Given the description of an element on the screen output the (x, y) to click on. 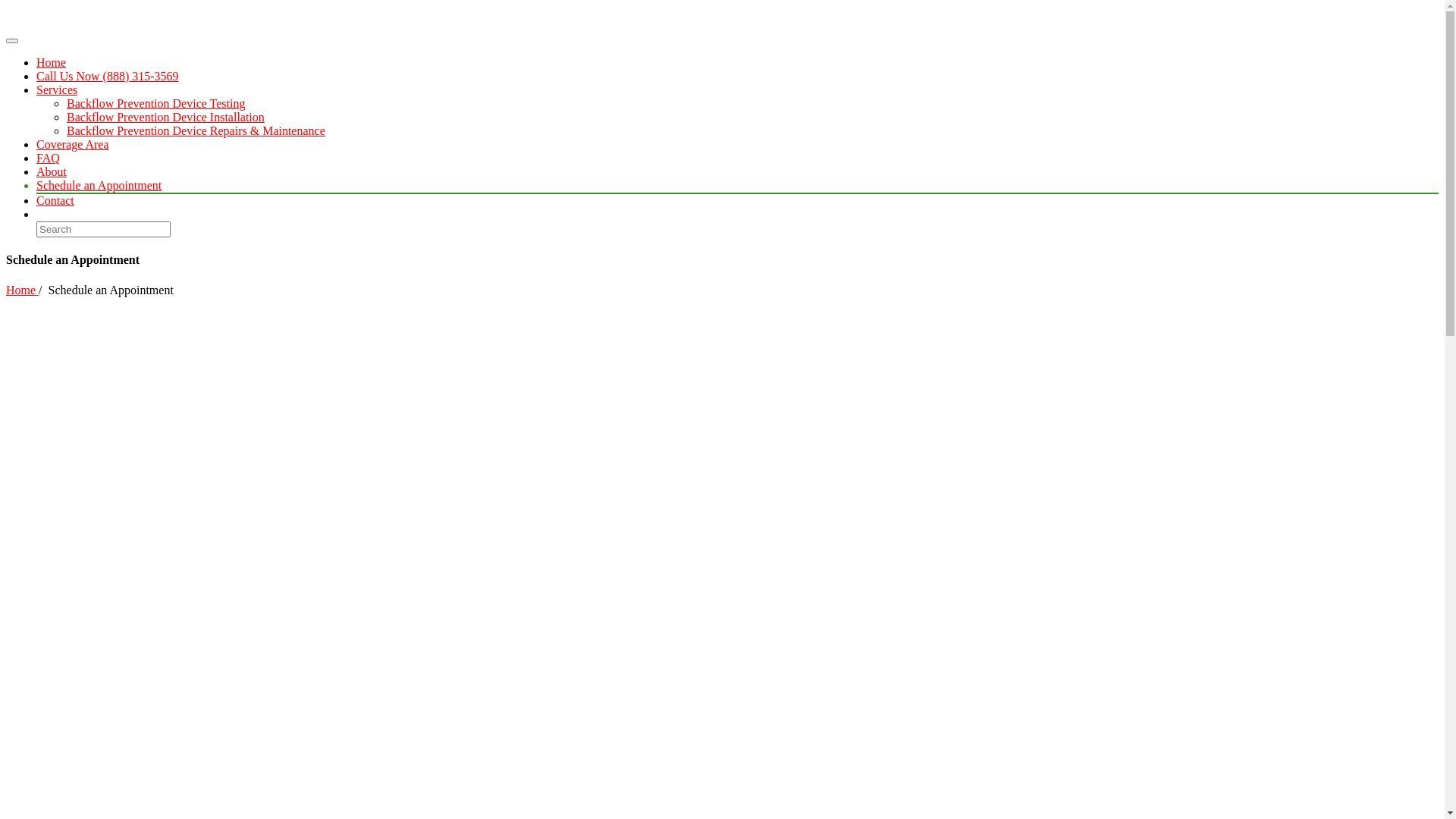
Home Element type: text (22, 289)
Backflow Prevention Device Repairs & Maintenance Element type: text (195, 130)
Schedule an Appointment Element type: text (98, 184)
Contact Element type: text (55, 200)
Services Element type: text (56, 89)
FAQ Element type: text (47, 157)
Home Element type: text (50, 62)
Call Us Now (888) 315-3569 Element type: text (107, 75)
Backflow Prevention Device Testing Element type: text (155, 103)
Backflow Prevention Device Installation Element type: text (165, 116)
About Element type: text (51, 171)
Coverage Area Element type: text (72, 144)
